Given the description of an element on the screen output the (x, y) to click on. 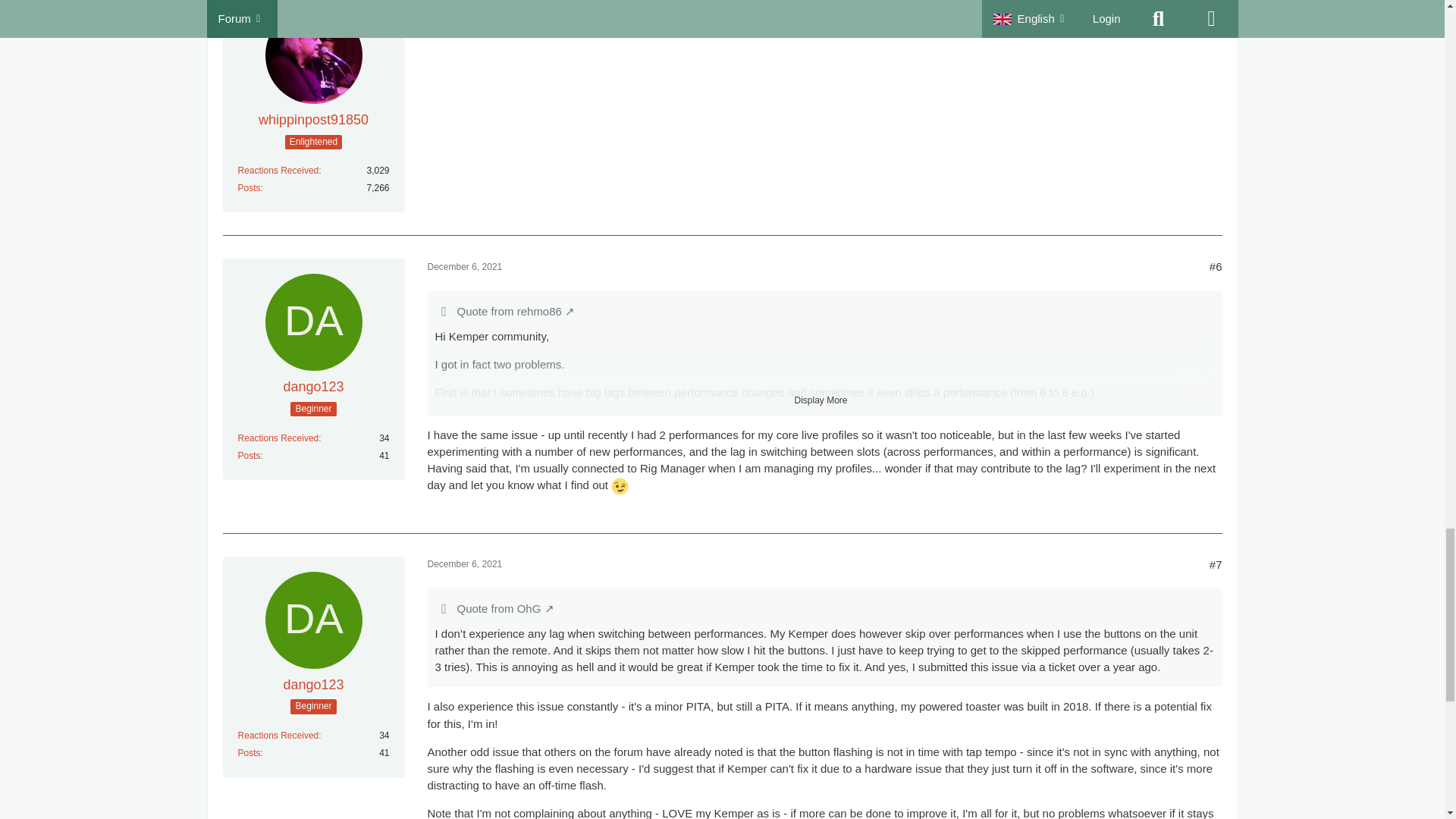
wink (619, 486)
